Given the description of an element on the screen output the (x, y) to click on. 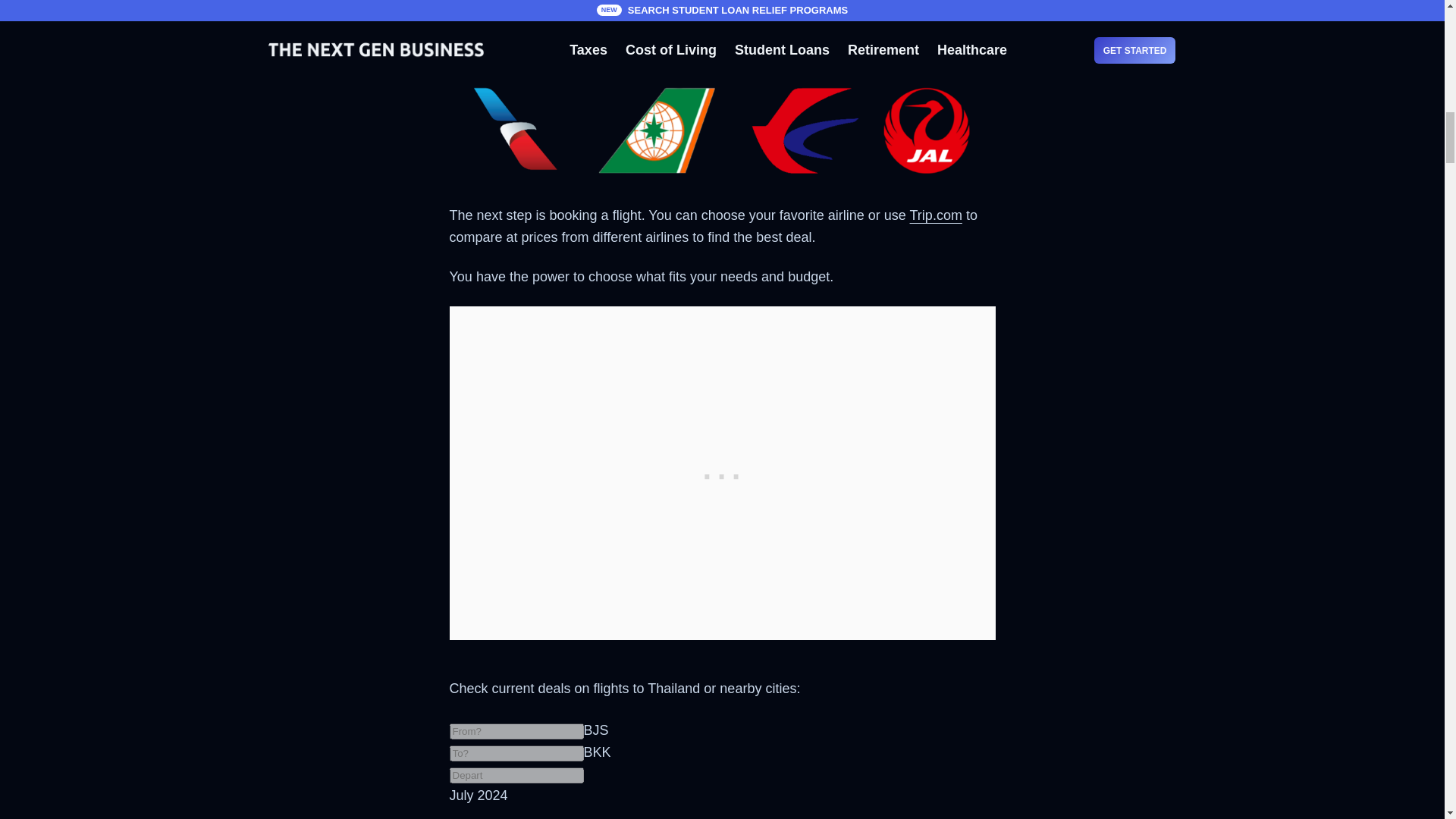
Trip.com (936, 215)
